Given the description of an element on the screen output the (x, y) to click on. 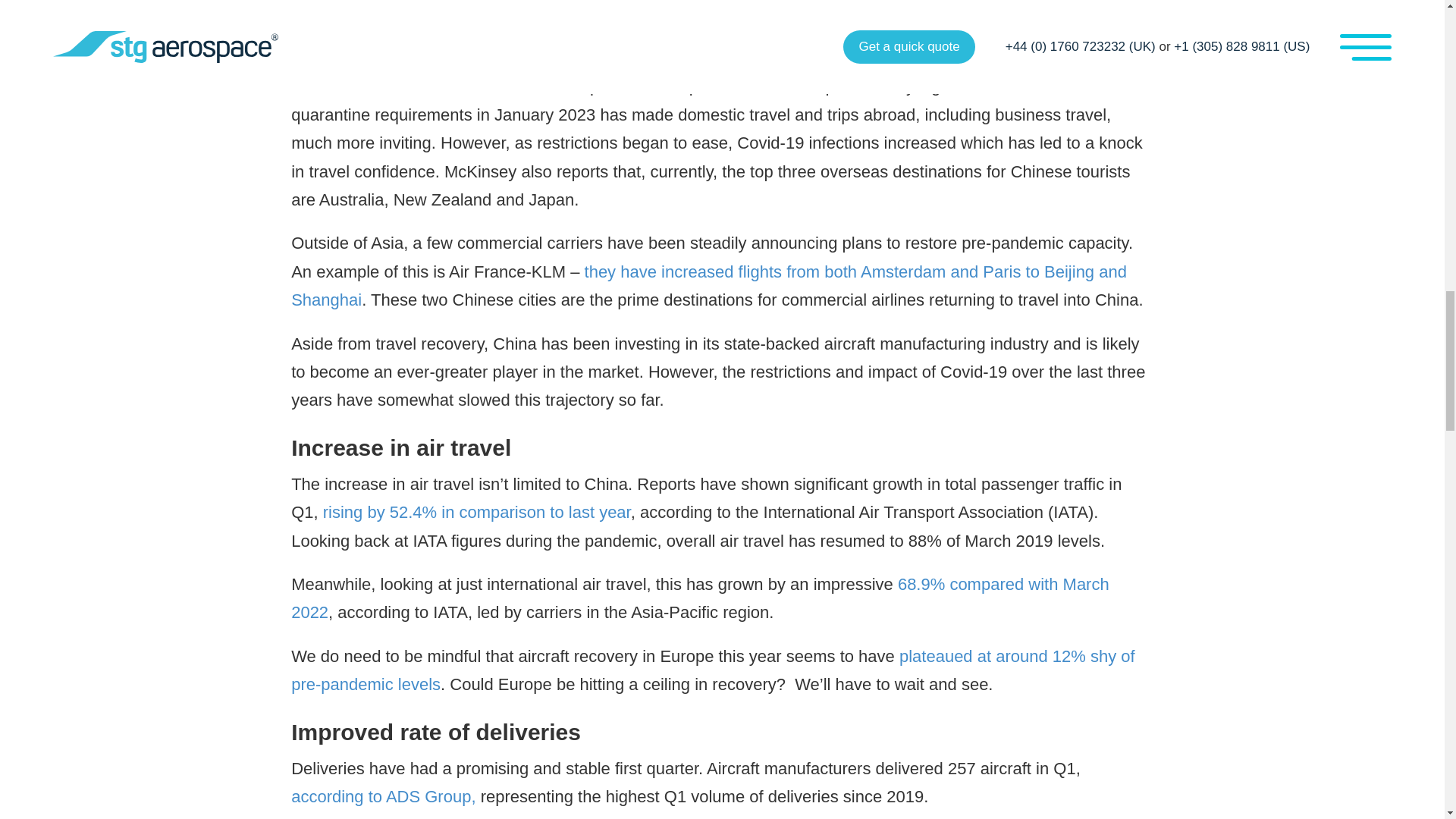
A McKinsey report (459, 57)
according to ADS Group, (383, 796)
